Given the description of an element on the screen output the (x, y) to click on. 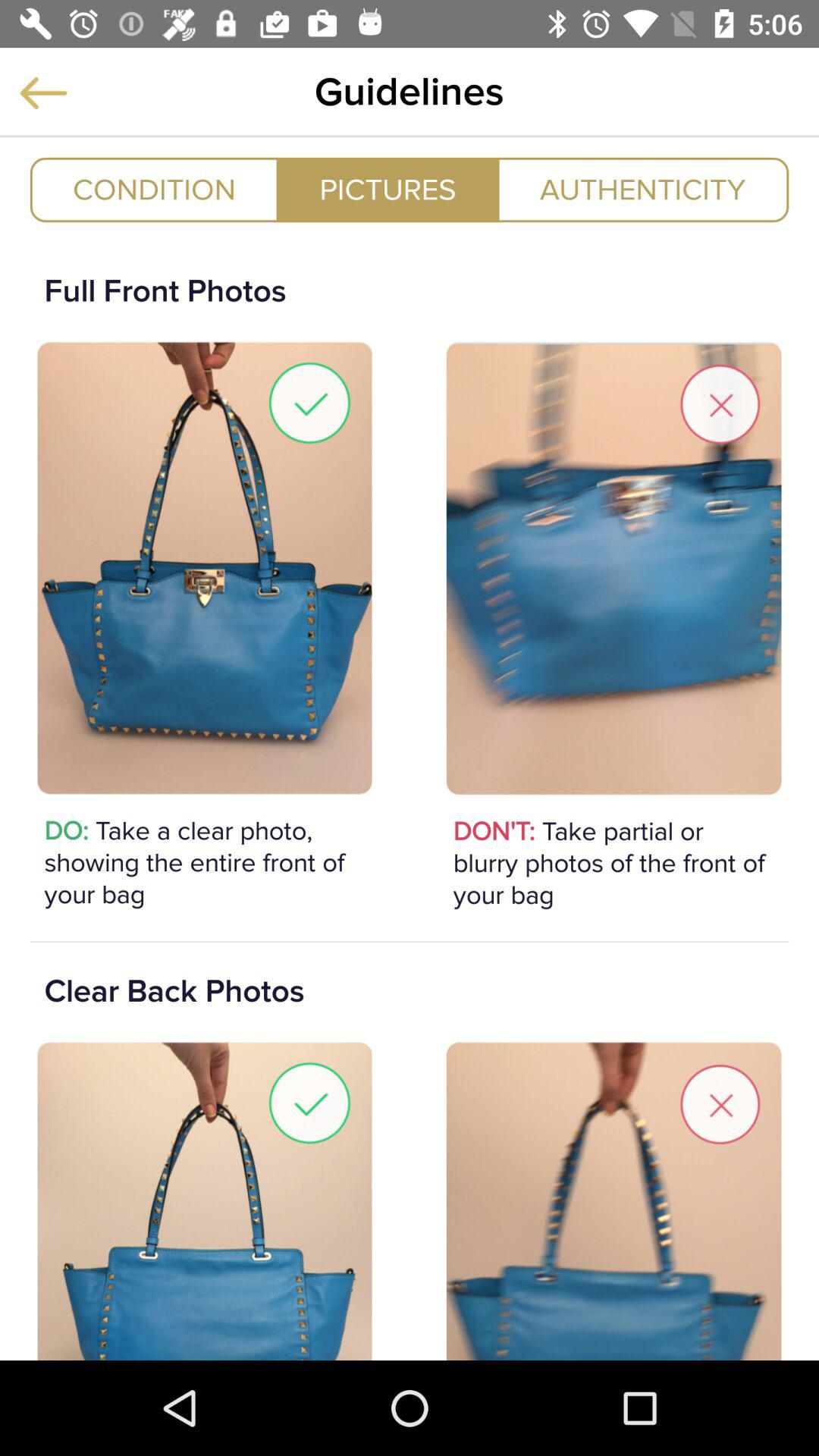
scroll to pictures item (387, 189)
